Given the description of an element on the screen output the (x, y) to click on. 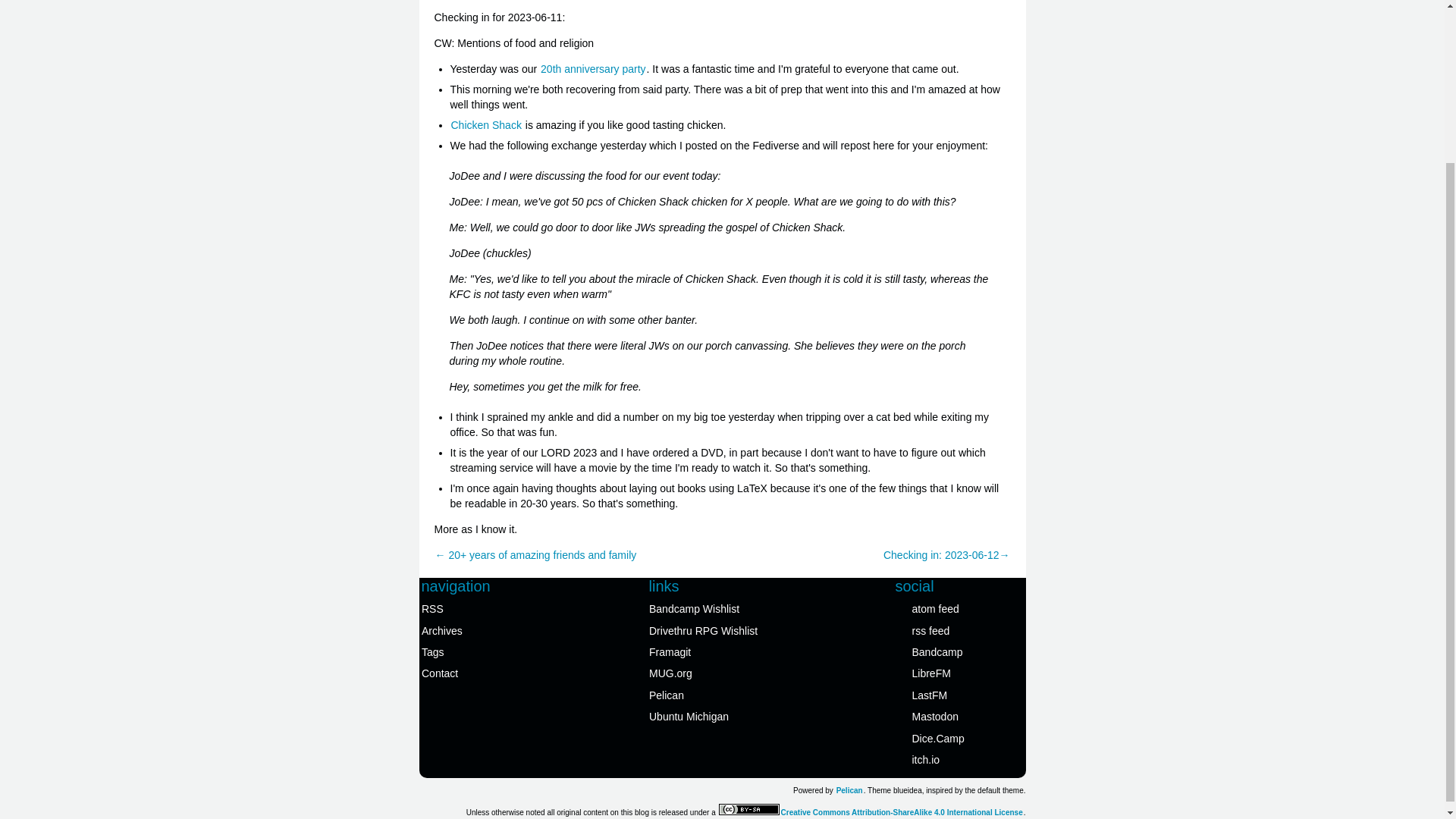
LibreFM (959, 672)
Ubuntu Michigan (716, 716)
Contact (489, 672)
Bandcamp (959, 651)
Chicken Shack (485, 124)
Mastodon (959, 716)
Dice.Camp (959, 737)
20th anniversary party (593, 69)
Framagit (716, 651)
